Given the description of an element on the screen output the (x, y) to click on. 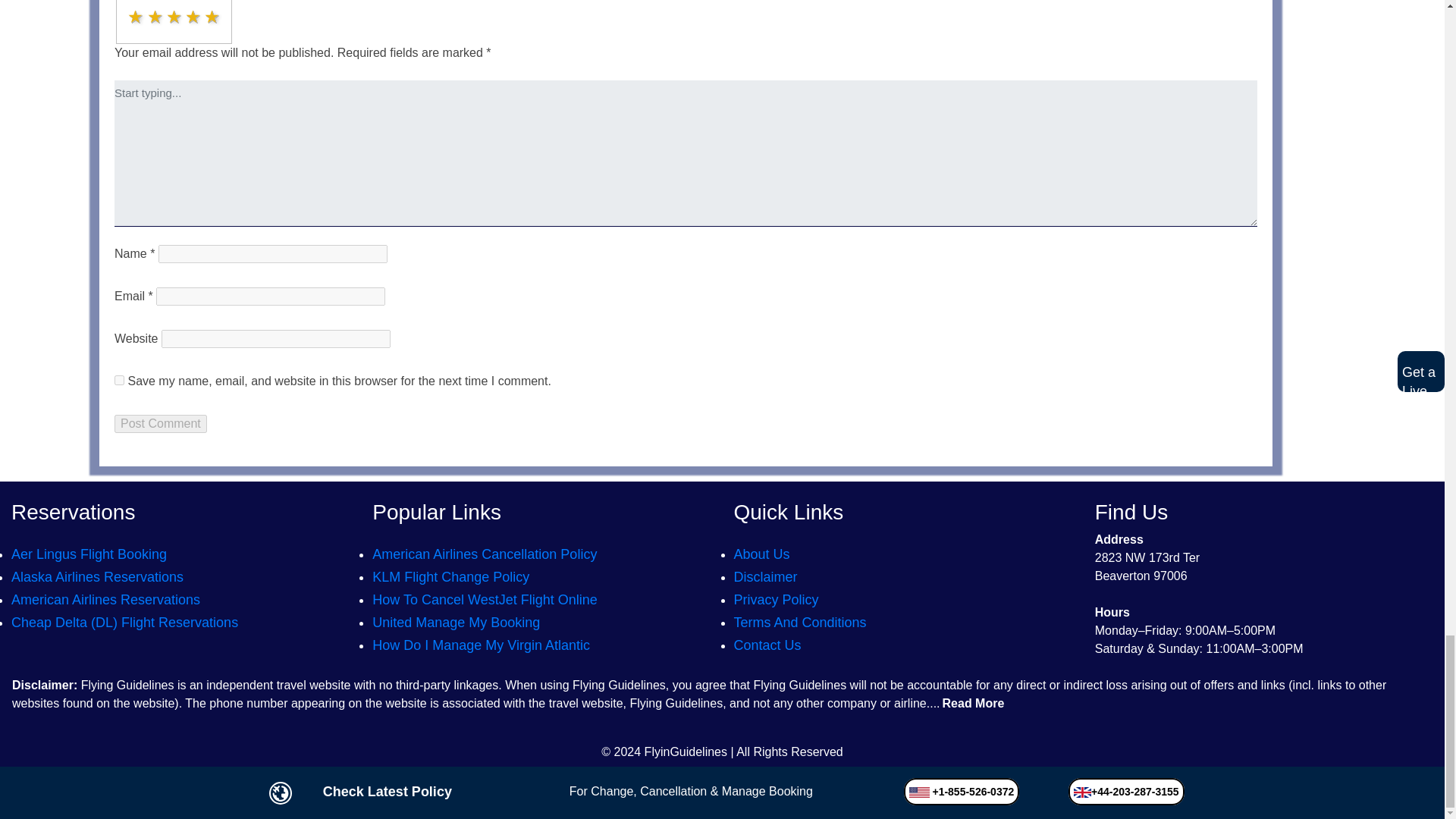
5 (128, 11)
Post Comment (160, 423)
1 (128, 11)
Kinda bad (156, 16)
Pretty good (193, 16)
Meh (174, 16)
yes (119, 379)
Rocks! (212, 16)
Very bad (137, 16)
3 (128, 11)
2 (128, 11)
4 (128, 11)
